Given the description of an element on the screen output the (x, y) to click on. 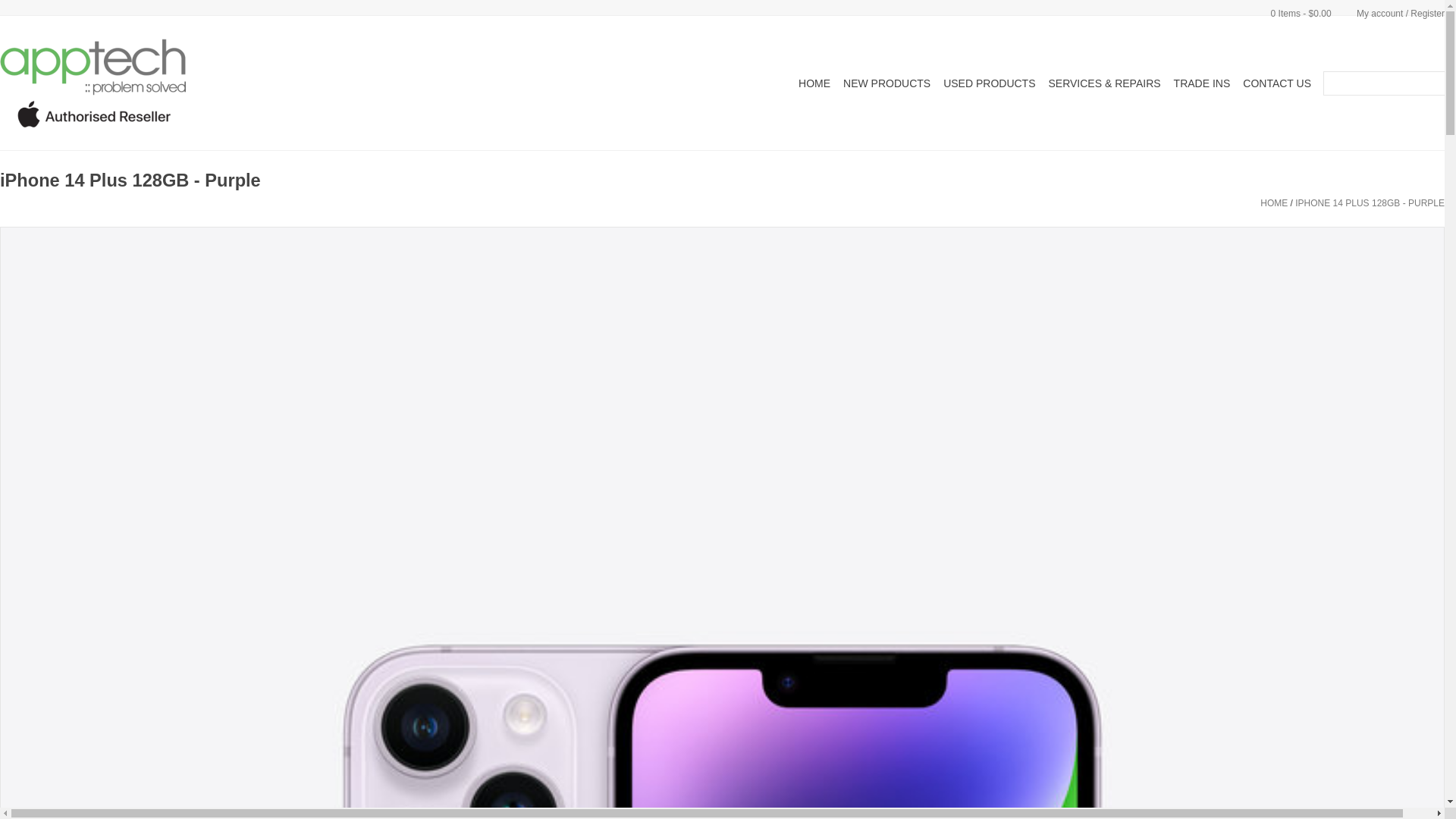
My account / Register Element type: text (1388, 13)
USED PRODUCTS Element type: text (988, 83)
HOME Element type: text (1273, 202)
Search Element type: hover (1330, 78)
CONTACT US Element type: text (1276, 83)
HOME Element type: text (813, 83)
NEW PRODUCTS Element type: text (886, 83)
0 Items - $0.00 Element type: text (1290, 13)
IPHONE 14 PLUS 128GB - PURPLE Element type: text (1369, 202)
TRADE INS Element type: text (1202, 83)
Apptech Pty Ltd Element type: hover (160, 82)
SERVICES & REPAIRS Element type: text (1103, 83)
